Given the description of an element on the screen output the (x, y) to click on. 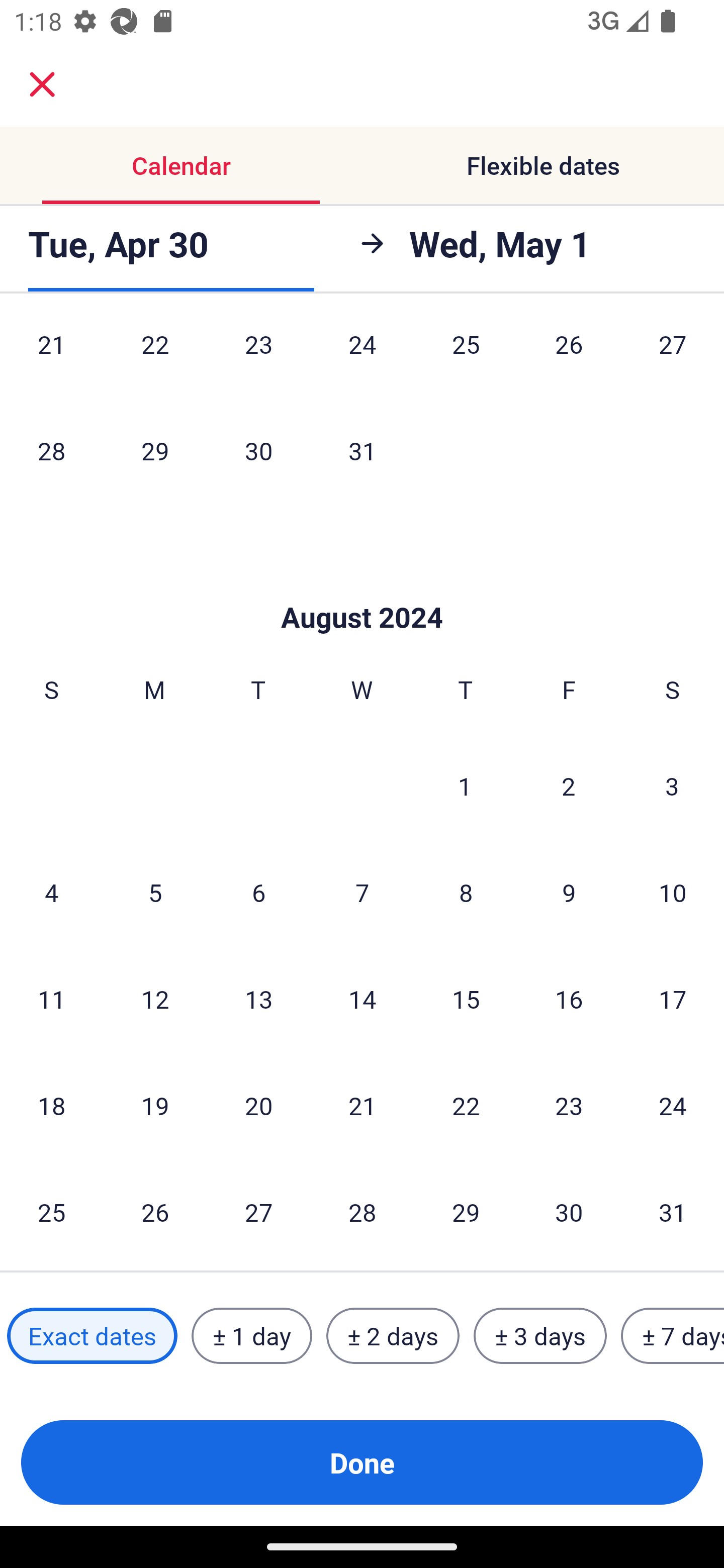
close. (42, 84)
Flexible dates (542, 164)
21 Sunday, July 21, 2024 (51, 358)
22 Monday, July 22, 2024 (155, 358)
23 Tuesday, July 23, 2024 (258, 358)
24 Wednesday, July 24, 2024 (362, 358)
25 Thursday, July 25, 2024 (465, 358)
26 Friday, July 26, 2024 (569, 358)
27 Saturday, July 27, 2024 (672, 358)
28 Sunday, July 28, 2024 (51, 449)
29 Monday, July 29, 2024 (155, 449)
30 Tuesday, July 30, 2024 (258, 449)
31 Wednesday, July 31, 2024 (362, 449)
Skip to Done (362, 587)
1 Thursday, August 1, 2024 (464, 785)
2 Friday, August 2, 2024 (568, 785)
3 Saturday, August 3, 2024 (672, 785)
4 Sunday, August 4, 2024 (51, 891)
5 Monday, August 5, 2024 (155, 891)
6 Tuesday, August 6, 2024 (258, 891)
7 Wednesday, August 7, 2024 (362, 891)
8 Thursday, August 8, 2024 (465, 891)
9 Friday, August 9, 2024 (569, 891)
10 Saturday, August 10, 2024 (672, 891)
11 Sunday, August 11, 2024 (51, 998)
12 Monday, August 12, 2024 (155, 998)
13 Tuesday, August 13, 2024 (258, 998)
14 Wednesday, August 14, 2024 (362, 998)
15 Thursday, August 15, 2024 (465, 998)
16 Friday, August 16, 2024 (569, 998)
17 Saturday, August 17, 2024 (672, 998)
18 Sunday, August 18, 2024 (51, 1105)
19 Monday, August 19, 2024 (155, 1105)
20 Tuesday, August 20, 2024 (258, 1105)
21 Wednesday, August 21, 2024 (362, 1105)
22 Thursday, August 22, 2024 (465, 1105)
23 Friday, August 23, 2024 (569, 1105)
24 Saturday, August 24, 2024 (672, 1105)
25 Sunday, August 25, 2024 (51, 1211)
26 Monday, August 26, 2024 (155, 1211)
27 Tuesday, August 27, 2024 (258, 1211)
28 Wednesday, August 28, 2024 (362, 1211)
29 Thursday, August 29, 2024 (465, 1211)
30 Friday, August 30, 2024 (569, 1211)
31 Saturday, August 31, 2024 (672, 1211)
Exact dates (92, 1335)
± 1 day (251, 1335)
± 2 days (392, 1335)
± 3 days (539, 1335)
± 7 days (672, 1335)
Done (361, 1462)
